Given the description of an element on the screen output the (x, y) to click on. 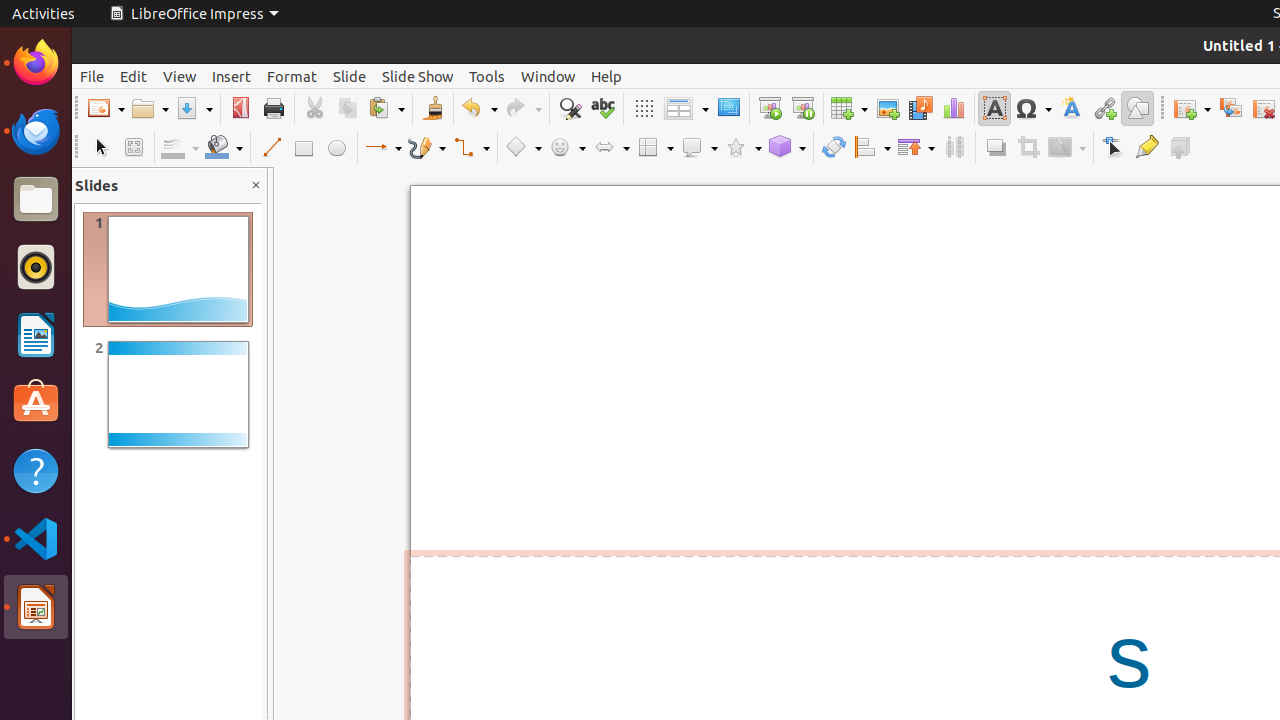
Slide Show Element type: menu (417, 76)
New Slide Element type: push-button (1192, 108)
LibreOffice Impress Element type: menu (193, 13)
Hyperlink Element type: toggle-button (1104, 108)
Rotate Element type: push-button (833, 147)
